Given the description of an element on the screen output the (x, y) to click on. 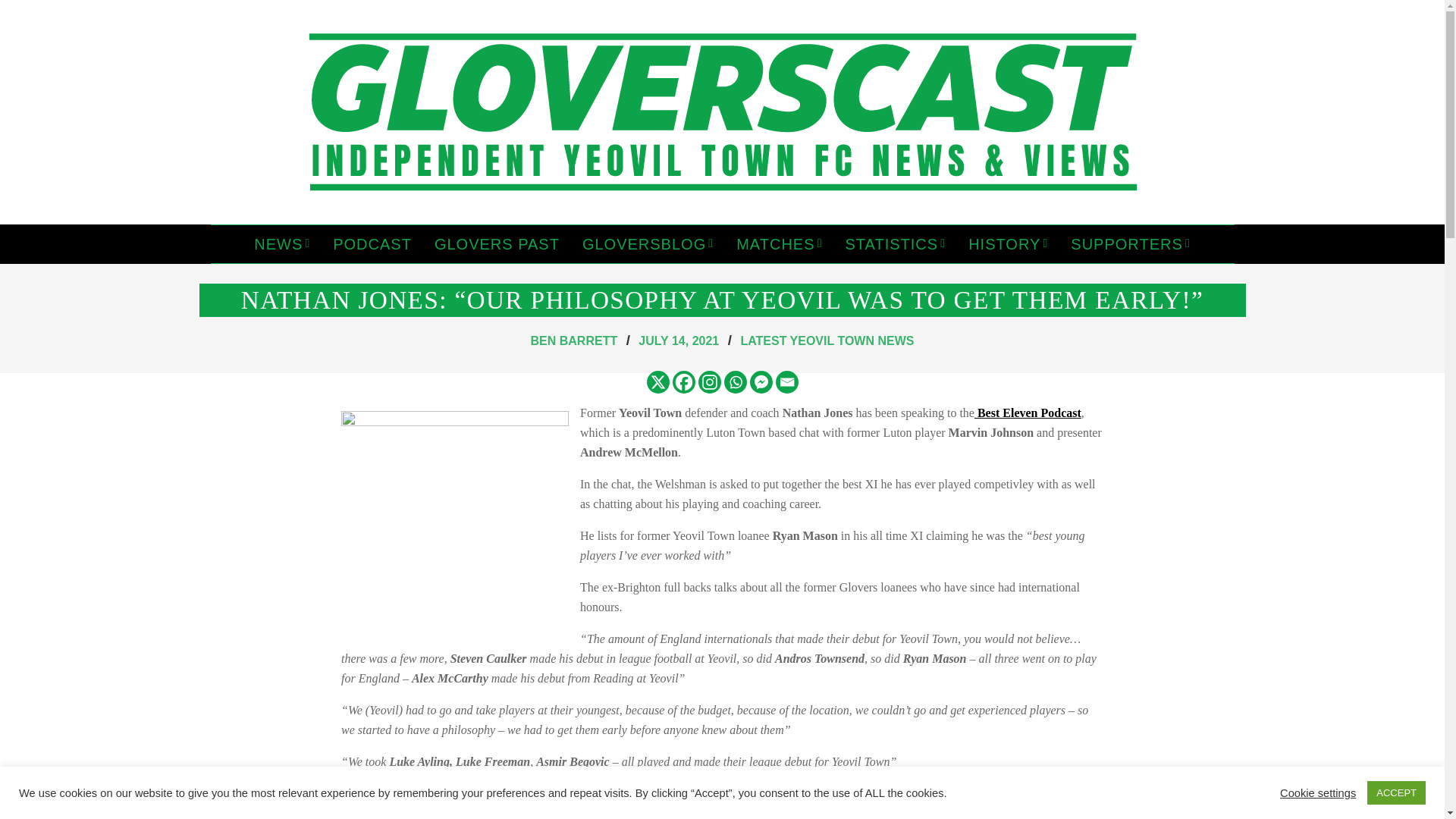
GLOVERSBLOG (647, 243)
HISTORY (1007, 243)
NEWS (282, 243)
Posts by Ben Barrett (574, 340)
STATISTICS (896, 243)
SUPPORTERS (1130, 243)
MATCHES (778, 243)
Email (785, 382)
Instagram (708, 382)
LATEST YEOVIL TOWN NEWS (826, 340)
BEN BARRETT (574, 340)
GLOVERS PAST (496, 243)
X (657, 382)
Facebook (682, 382)
PODCAST (372, 243)
